Given the description of an element on the screen output the (x, y) to click on. 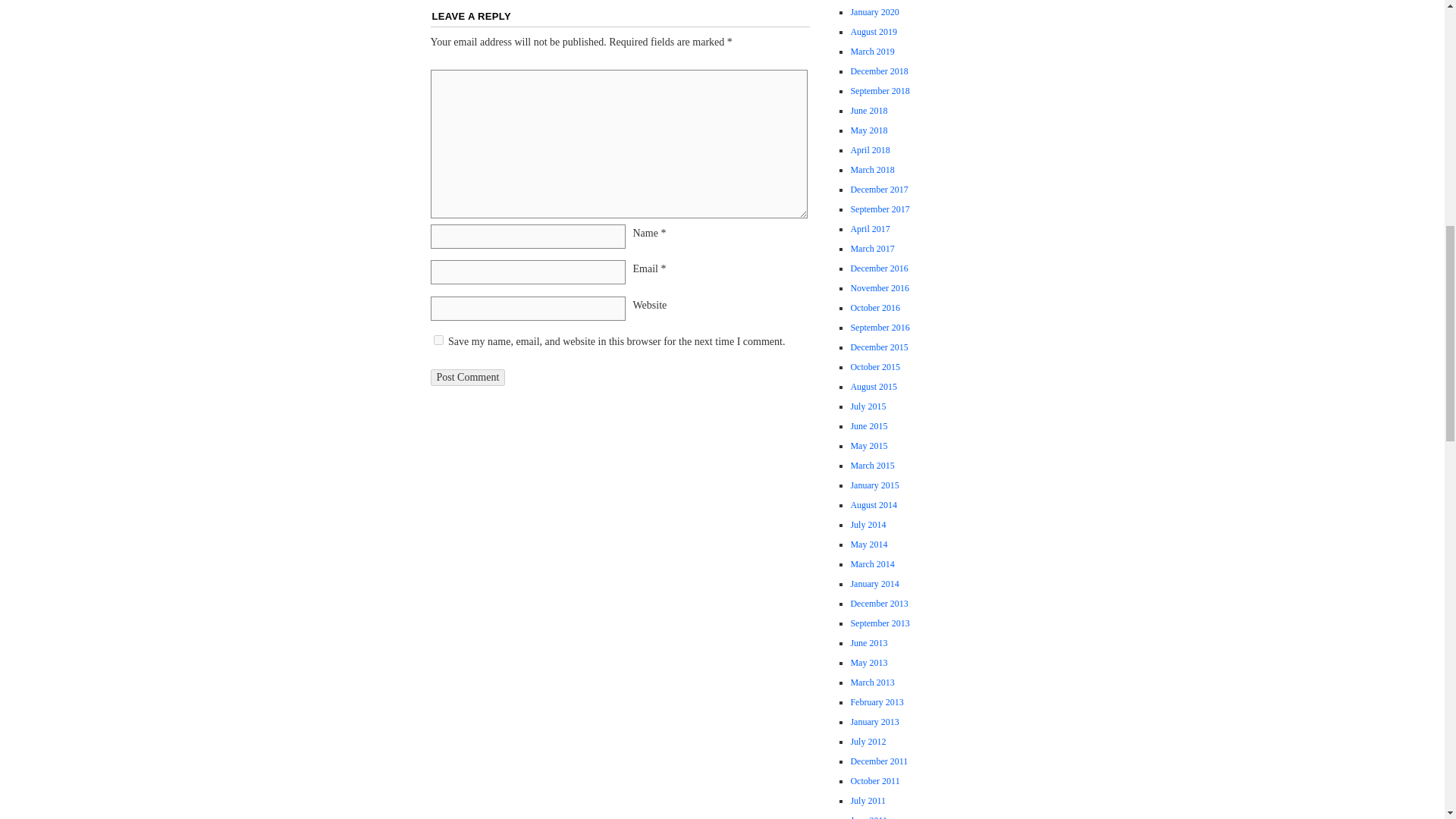
Post Comment (467, 377)
April 2018 (869, 149)
August 2019 (873, 31)
June 2018 (868, 110)
May 2018 (868, 130)
March 2019 (871, 50)
September 2018 (879, 90)
December 2018 (878, 71)
Post Comment (467, 377)
January 2020 (874, 11)
yes (438, 339)
